Given the description of an element on the screen output the (x, y) to click on. 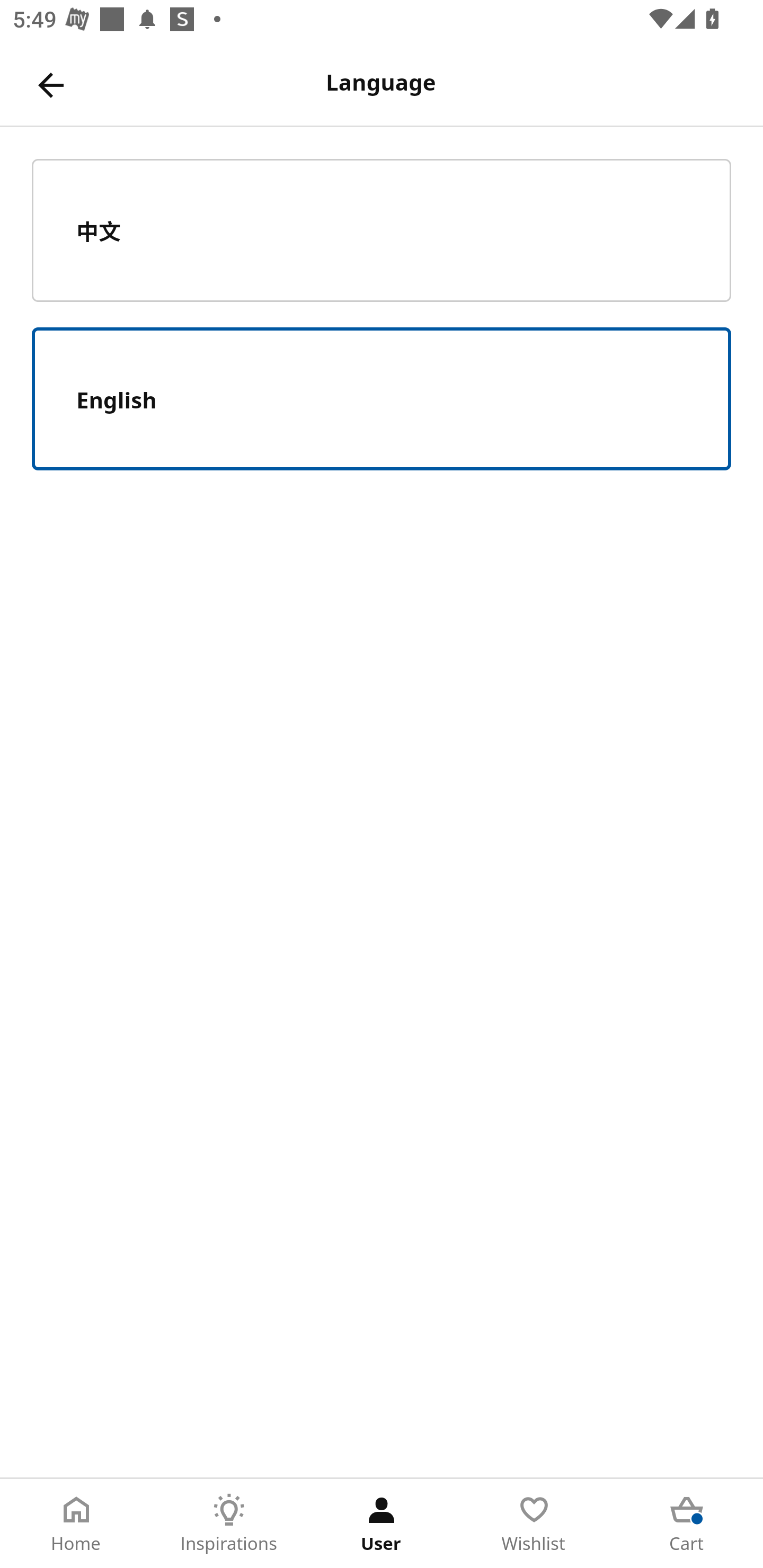
中文 (381, 230)
English (381, 398)
Home
Tab 1 of 5 (76, 1522)
Inspirations
Tab 2 of 5 (228, 1522)
User
Tab 3 of 5 (381, 1522)
Wishlist
Tab 4 of 5 (533, 1522)
Cart
Tab 5 of 5 (686, 1522)
